Given the description of an element on the screen output the (x, y) to click on. 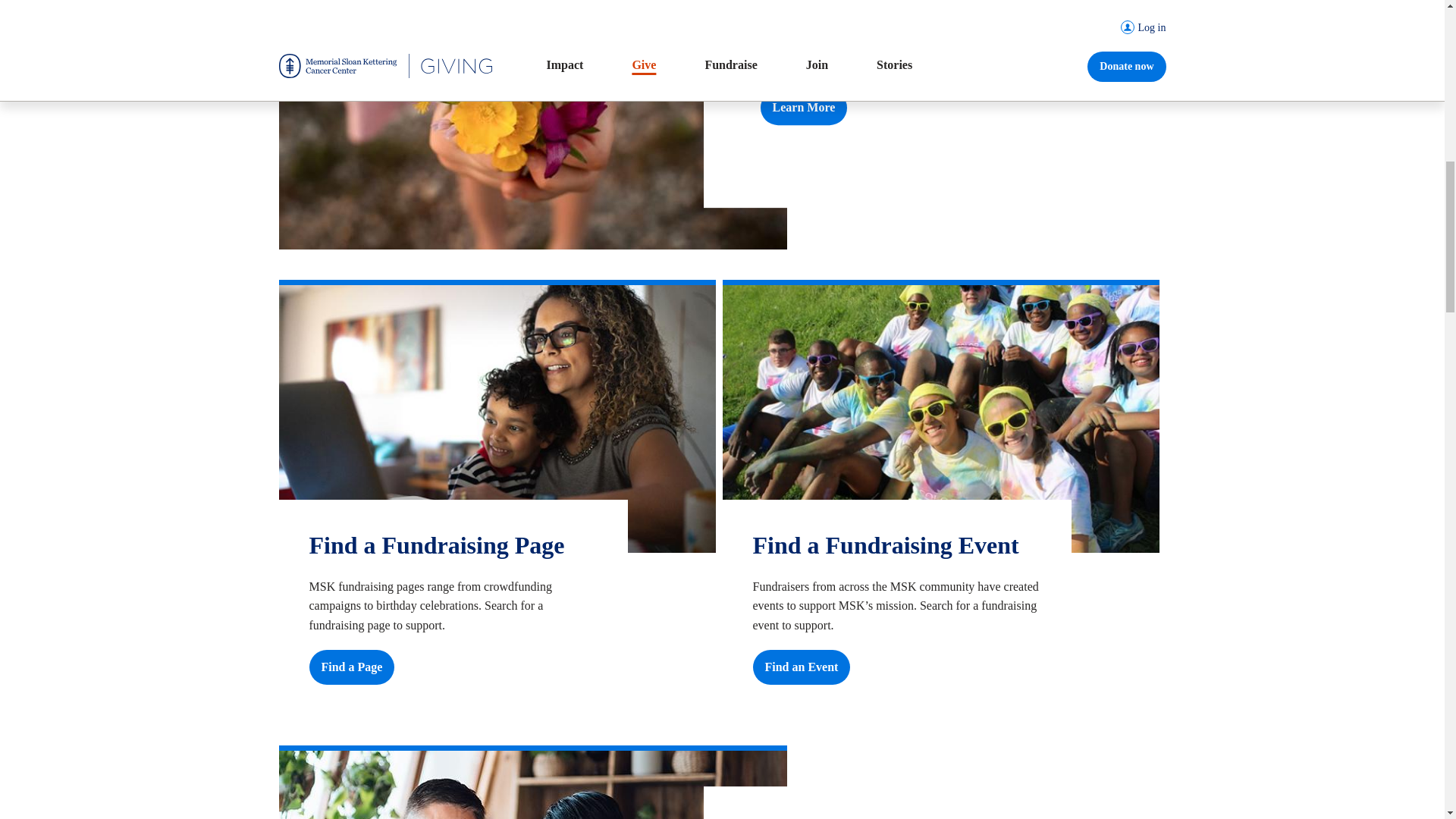
Find an Event (801, 667)
Find a Page (351, 667)
Learn More (803, 107)
